Given the description of an element on the screen output the (x, y) to click on. 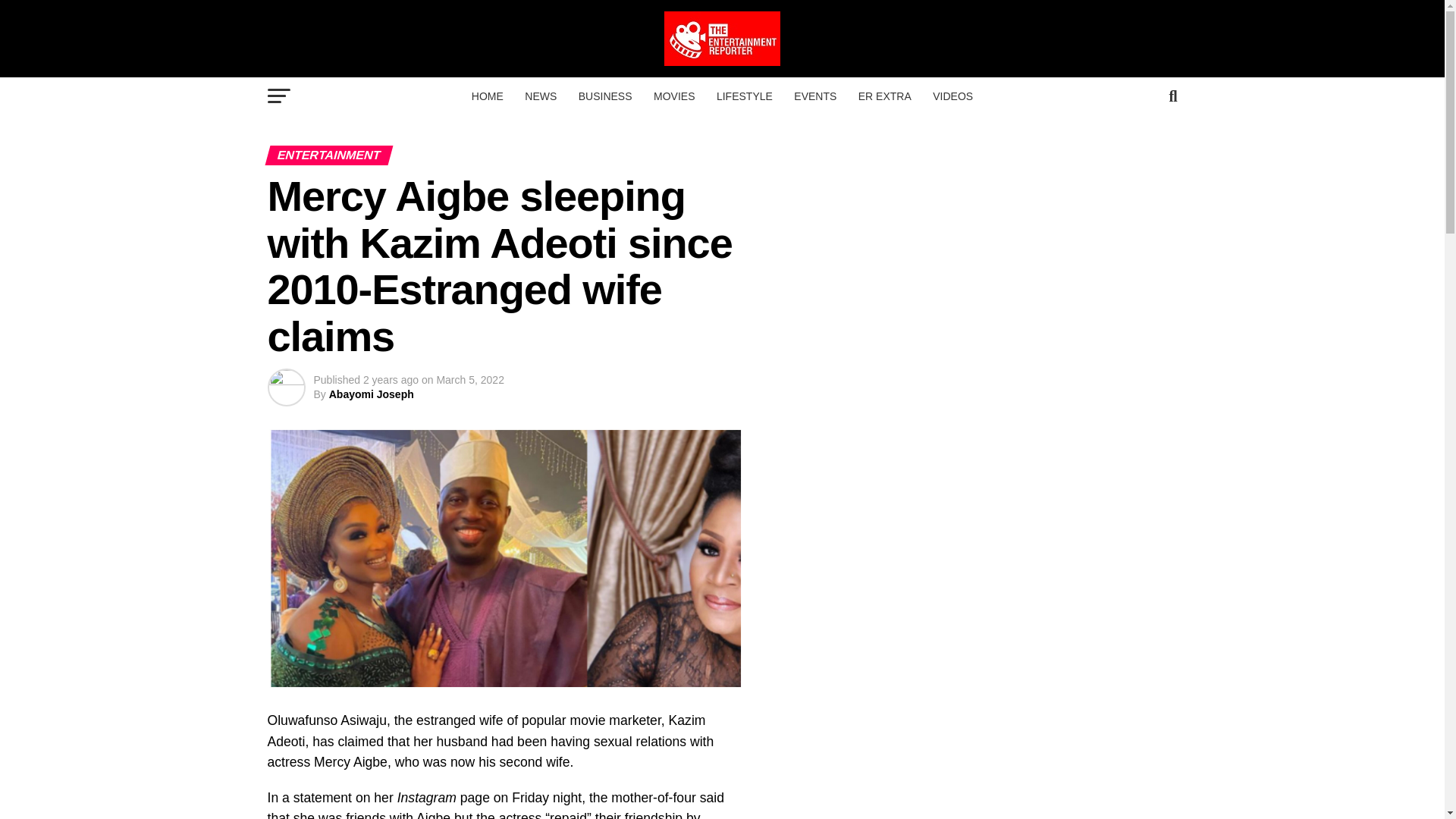
HOME (487, 95)
NEWS (540, 95)
EVENTS (814, 95)
MOVIES (674, 95)
LIFESTYLE (744, 95)
ER EXTRA (884, 95)
BUSINESS (605, 95)
